Given the description of an element on the screen output the (x, y) to click on. 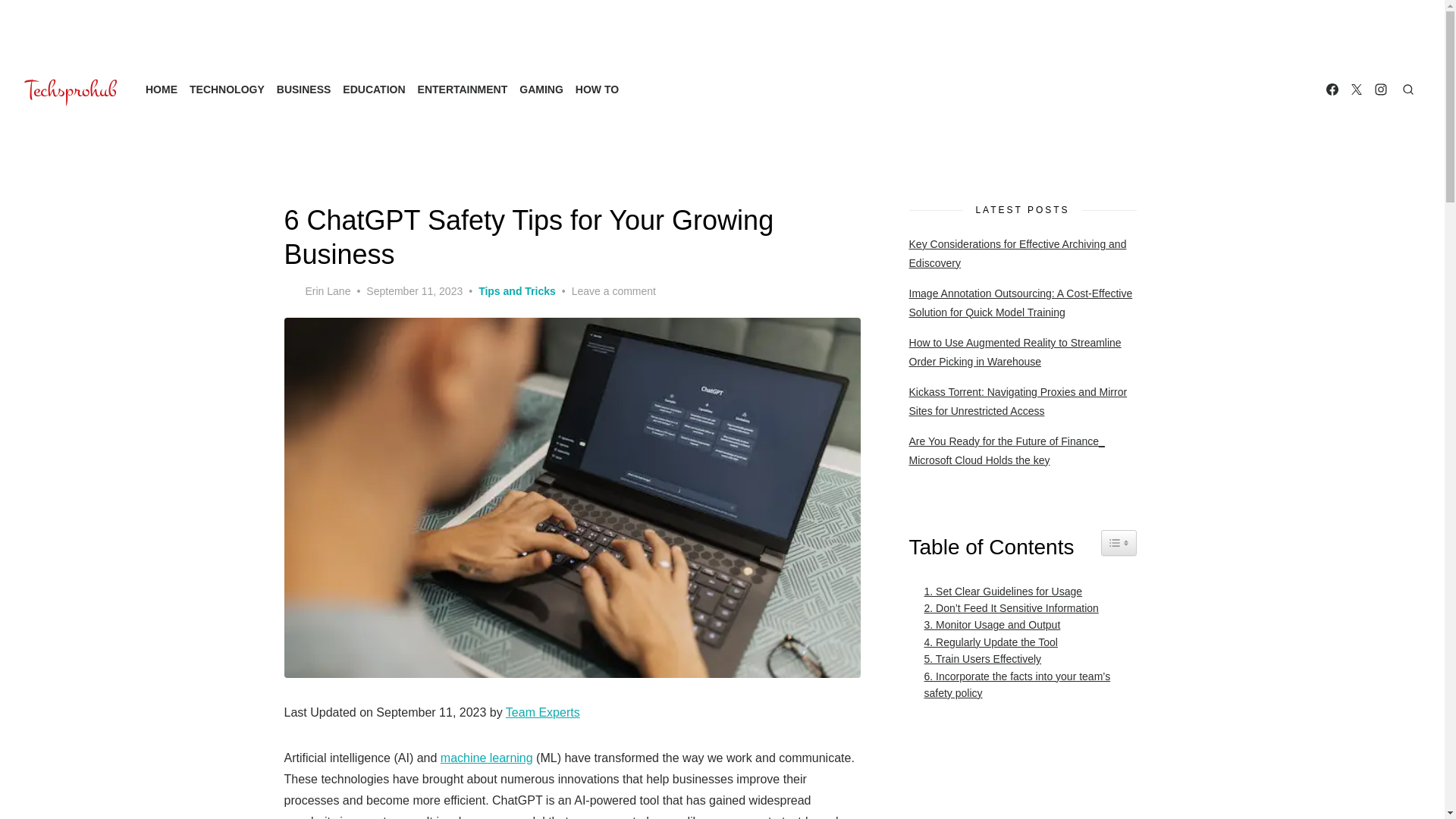
TECHNOLOGY (226, 88)
EDUCATION (373, 88)
HOME (161, 88)
HOW TO (596, 88)
GAMING (541, 88)
Erin Lane (316, 291)
Tips and Tricks (517, 291)
September 11, 2023 (414, 291)
5. Train Users Effectively (979, 658)
4. Regularly Update the Tool (987, 641)
Team Experts (542, 712)
BUSINESS (303, 88)
1. Set Clear Guidelines for Usage (1000, 591)
ENTERTAINMENT (462, 88)
machine learning (486, 757)
